Given the description of an element on the screen output the (x, y) to click on. 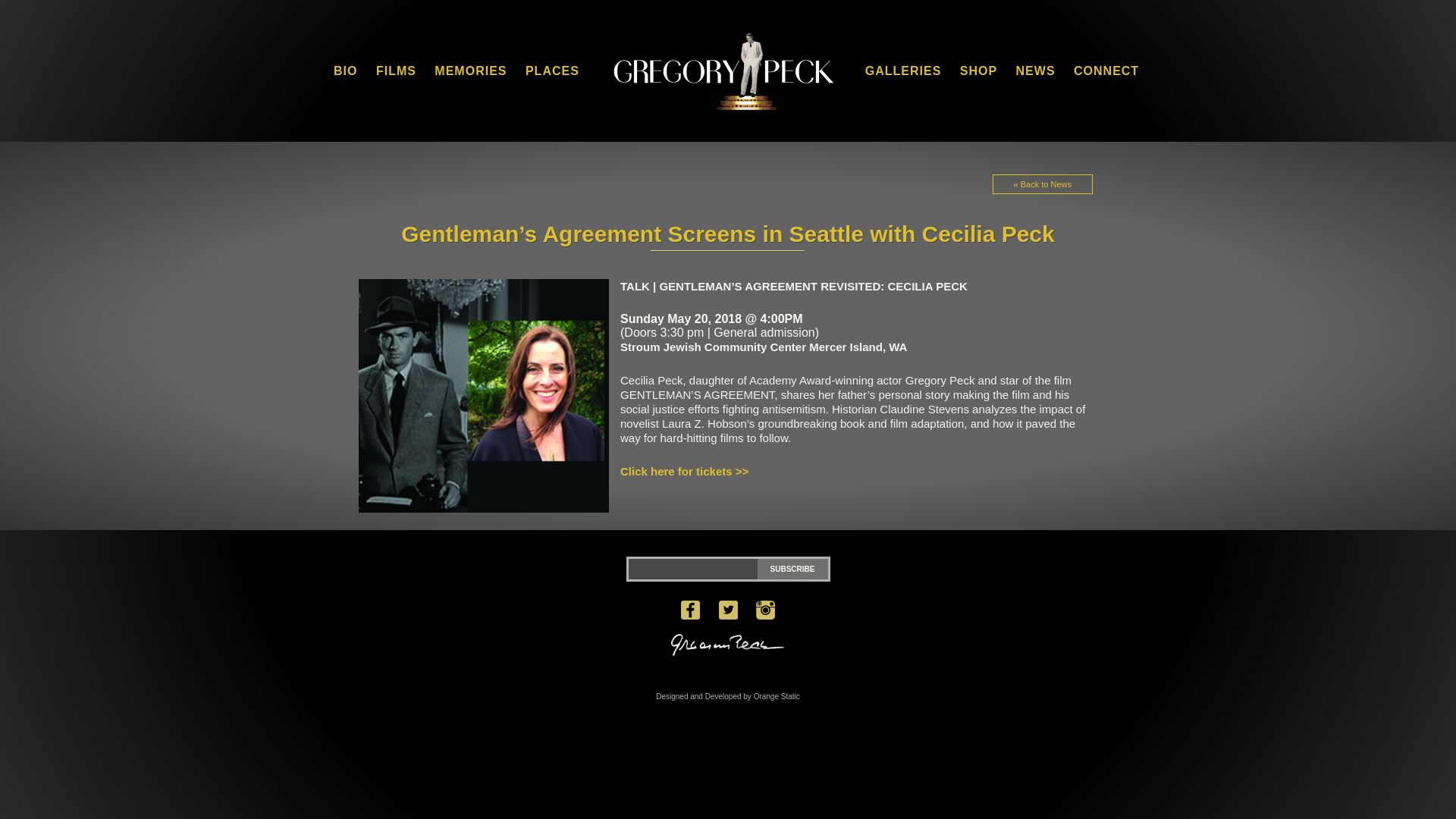
SHOP (978, 69)
NEWS (1035, 69)
Designed and Developed by Orange Static (727, 696)
Subscribe (792, 568)
FILMS (395, 69)
MEMORIES (469, 69)
BIO (344, 69)
HOME (720, 70)
PLACES (552, 69)
CONNECT (1106, 69)
Subscribe (792, 568)
Orange Static Web Agency (727, 696)
GALLERIES (903, 69)
